Given the description of an element on the screen output the (x, y) to click on. 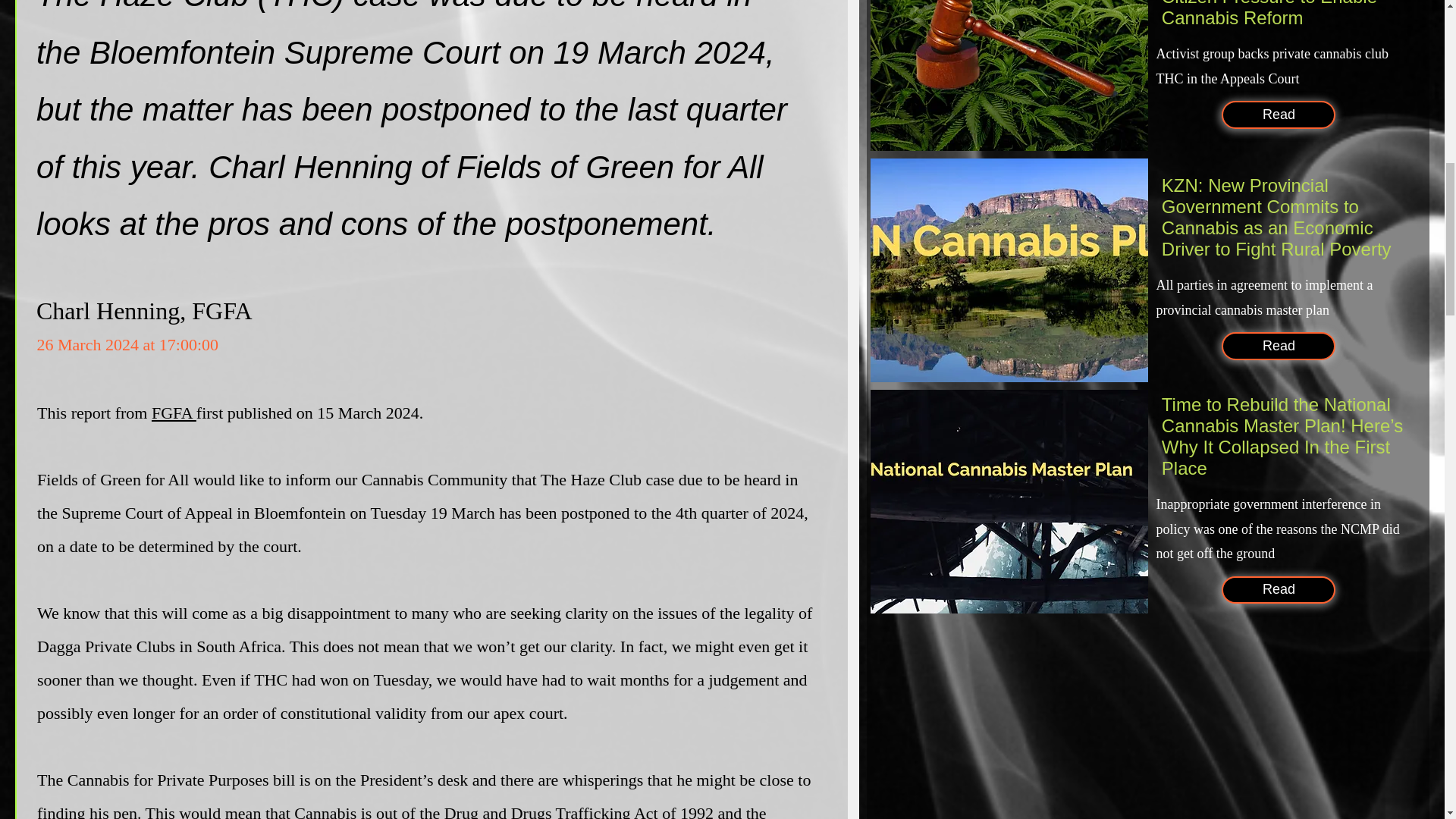
Read (1278, 114)
Read (1278, 346)
Read (1278, 590)
FGFA (173, 412)
